Given the description of an element on the screen output the (x, y) to click on. 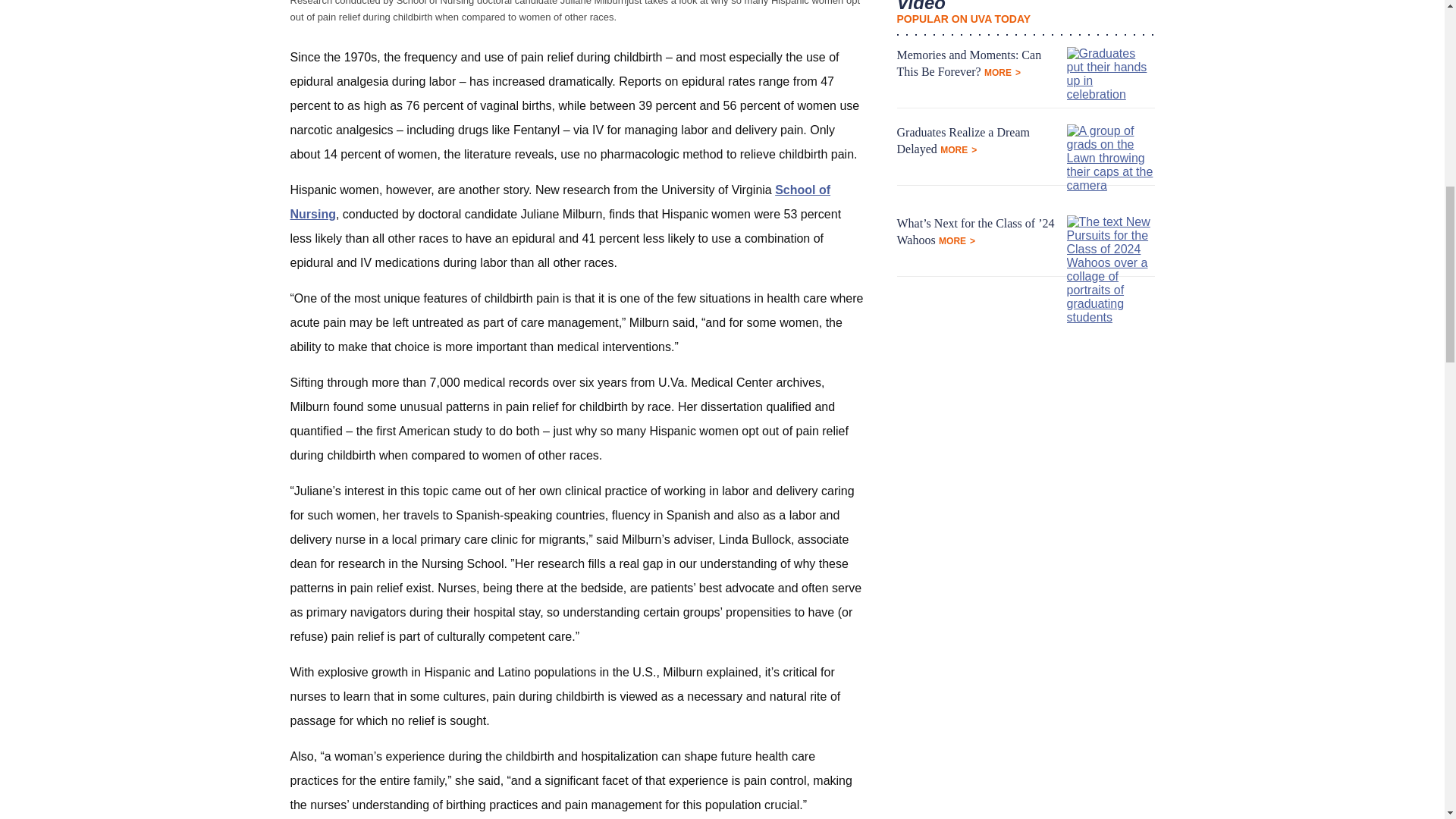
School of Nursing (559, 201)
